Given the description of an element on the screen output the (x, y) to click on. 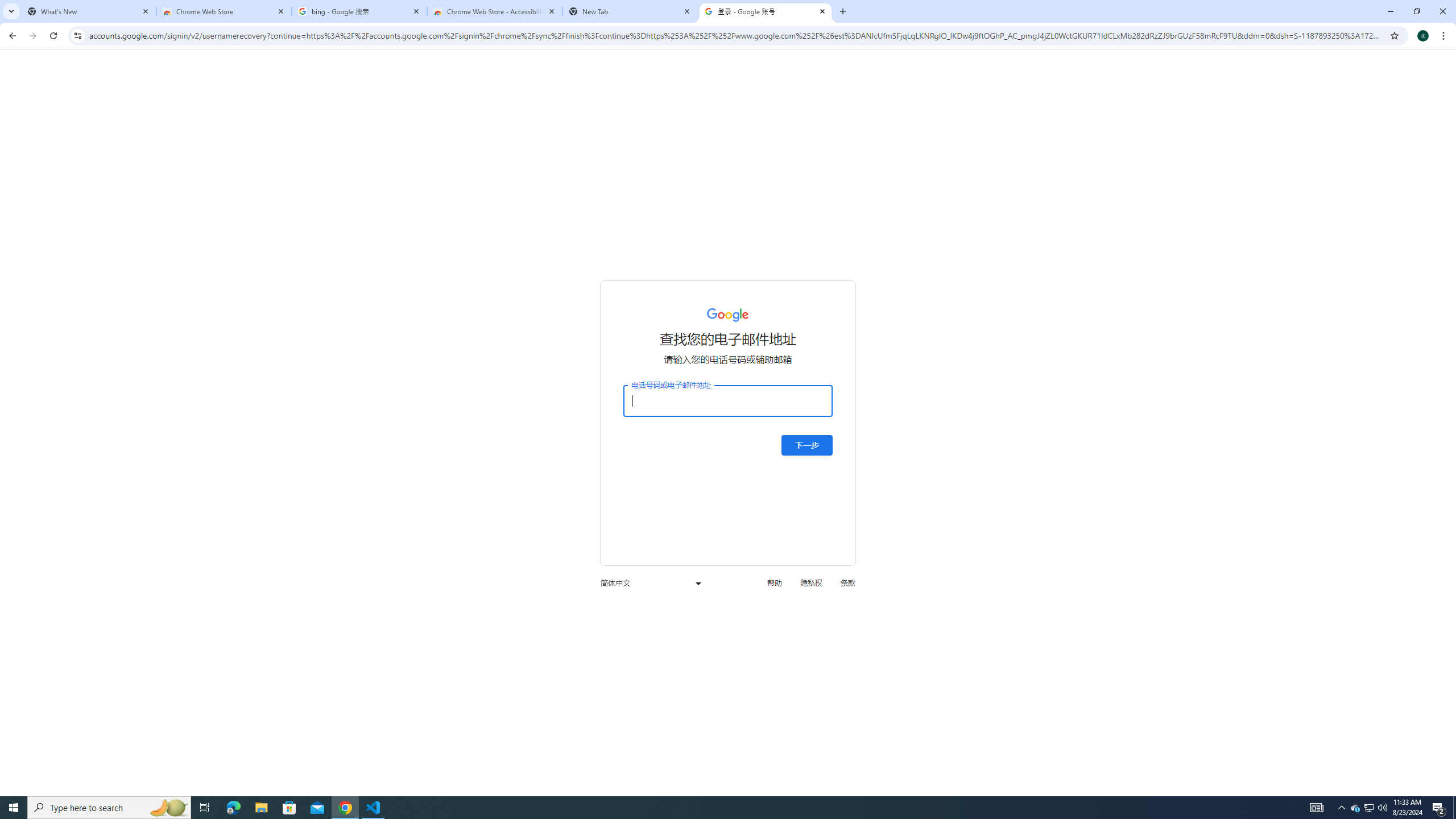
Track Changes (925, 77)
Traditional (569, 91)
Reviewing Pane (1002, 112)
Reviewing Pane (1008, 112)
Start a conversation (1291, 240)
Cancel (1383, 279)
Reject (1152, 72)
